Given the description of an element on the screen output the (x, y) to click on. 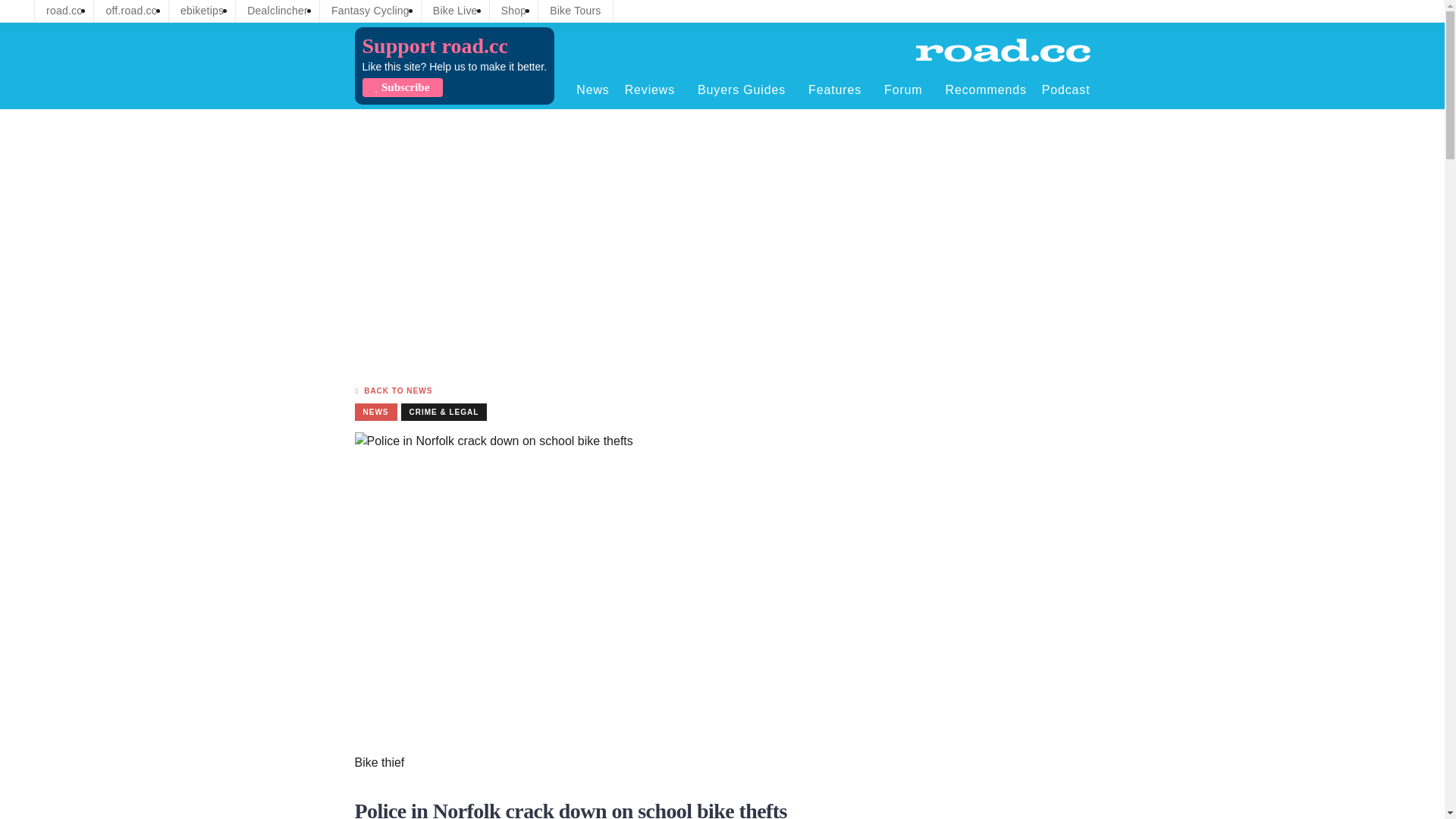
ebiketips (201, 11)
Home (1002, 50)
Dealclincher (276, 11)
road.cc (63, 11)
Subscribe (402, 87)
Bike Tours (574, 11)
Bike Live (455, 11)
off.road.cc (131, 11)
Fantasy Cycling (370, 11)
Reviews (653, 89)
Shop (513, 11)
